Given the description of an element on the screen output the (x, y) to click on. 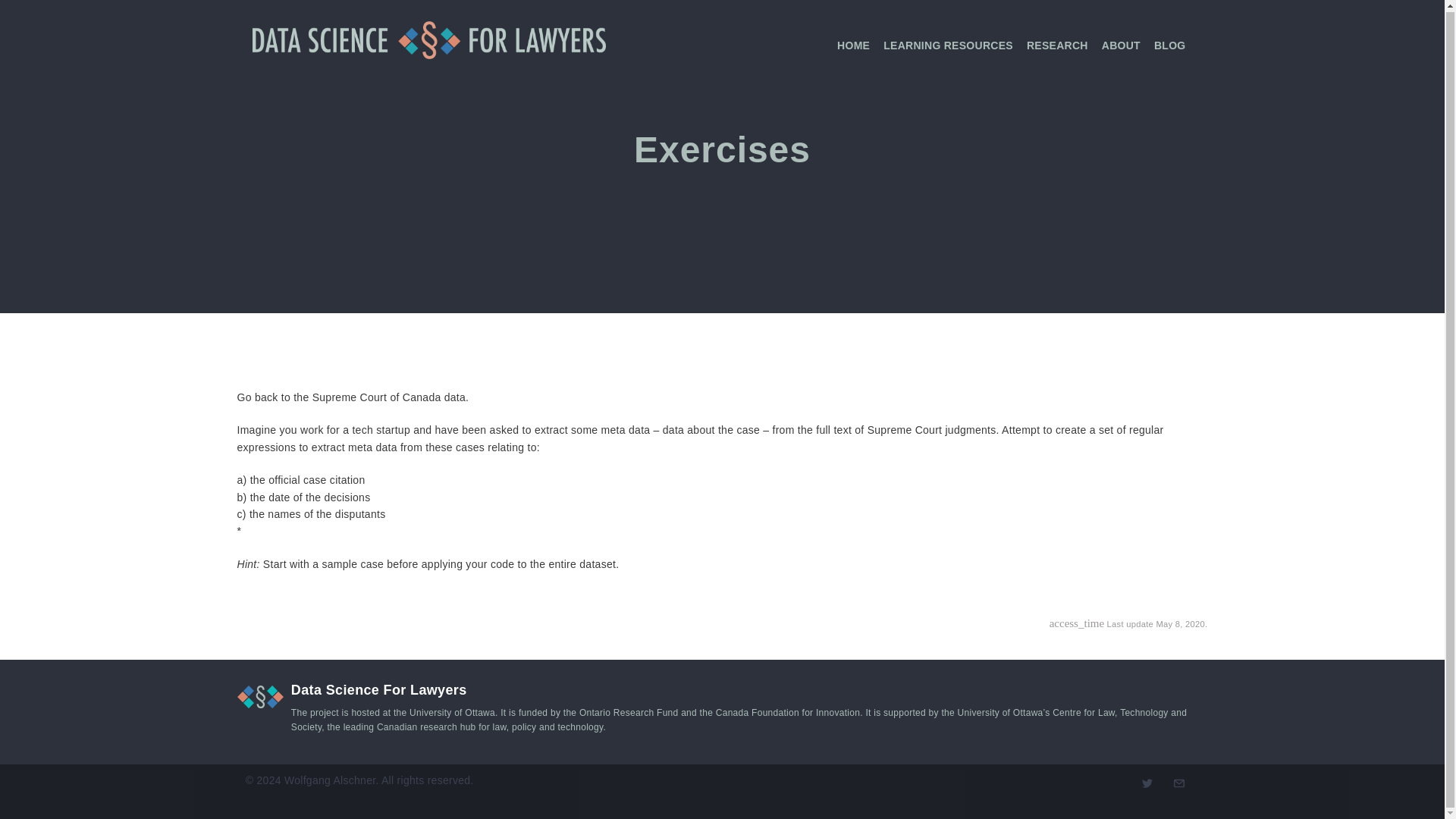
LEARNING RESOURCES (948, 44)
RESEARCH (1056, 44)
BLOG (1170, 44)
ABOUT (1121, 44)
HOME (853, 44)
